Given the description of an element on the screen output the (x, y) to click on. 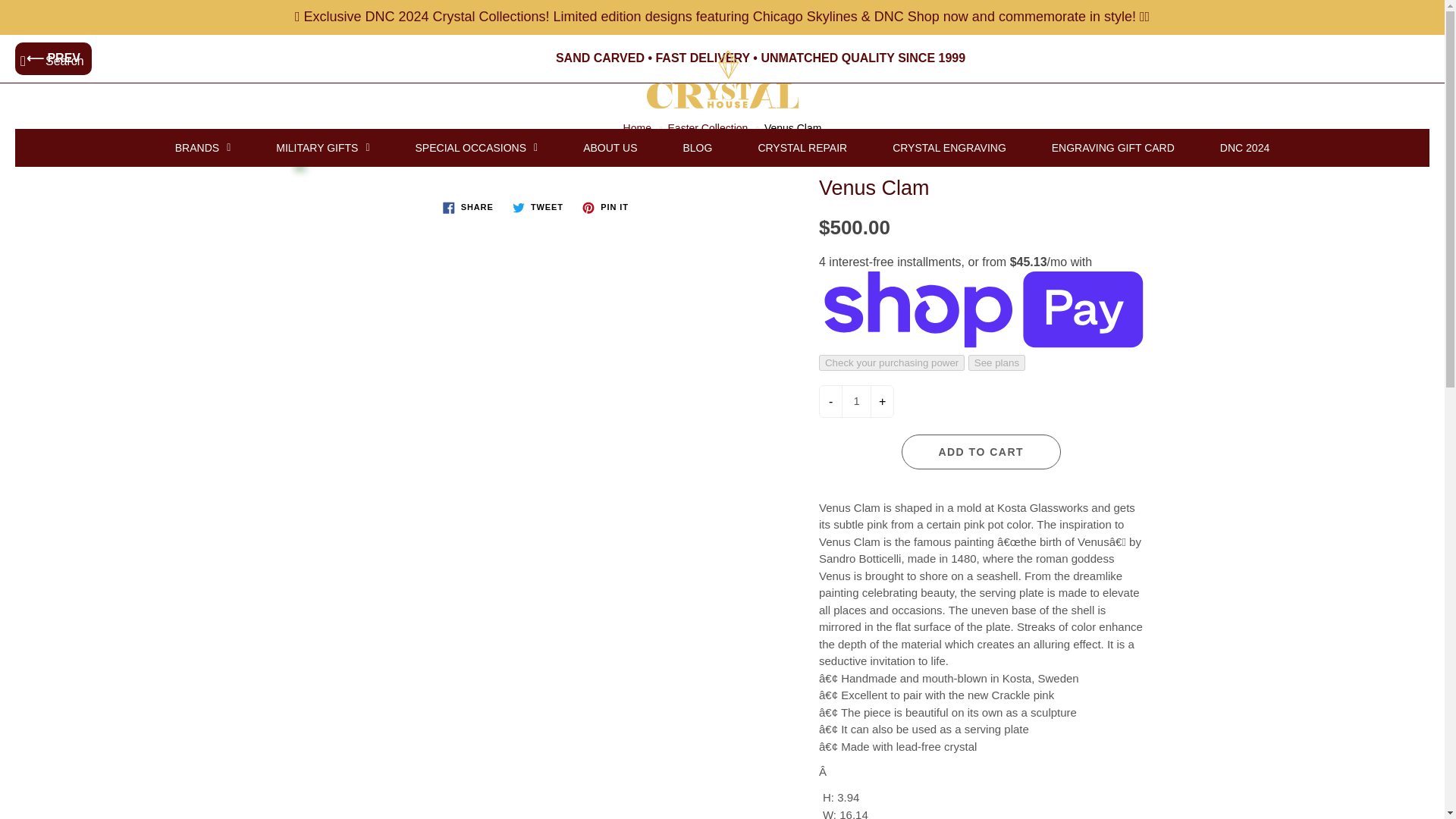
You have 0 items in your cart (1417, 60)
BRANDS (202, 147)
My account (1379, 60)
BRANDS (202, 147)
1 (855, 400)
Search (28, 60)
